Given the description of an element on the screen output the (x, y) to click on. 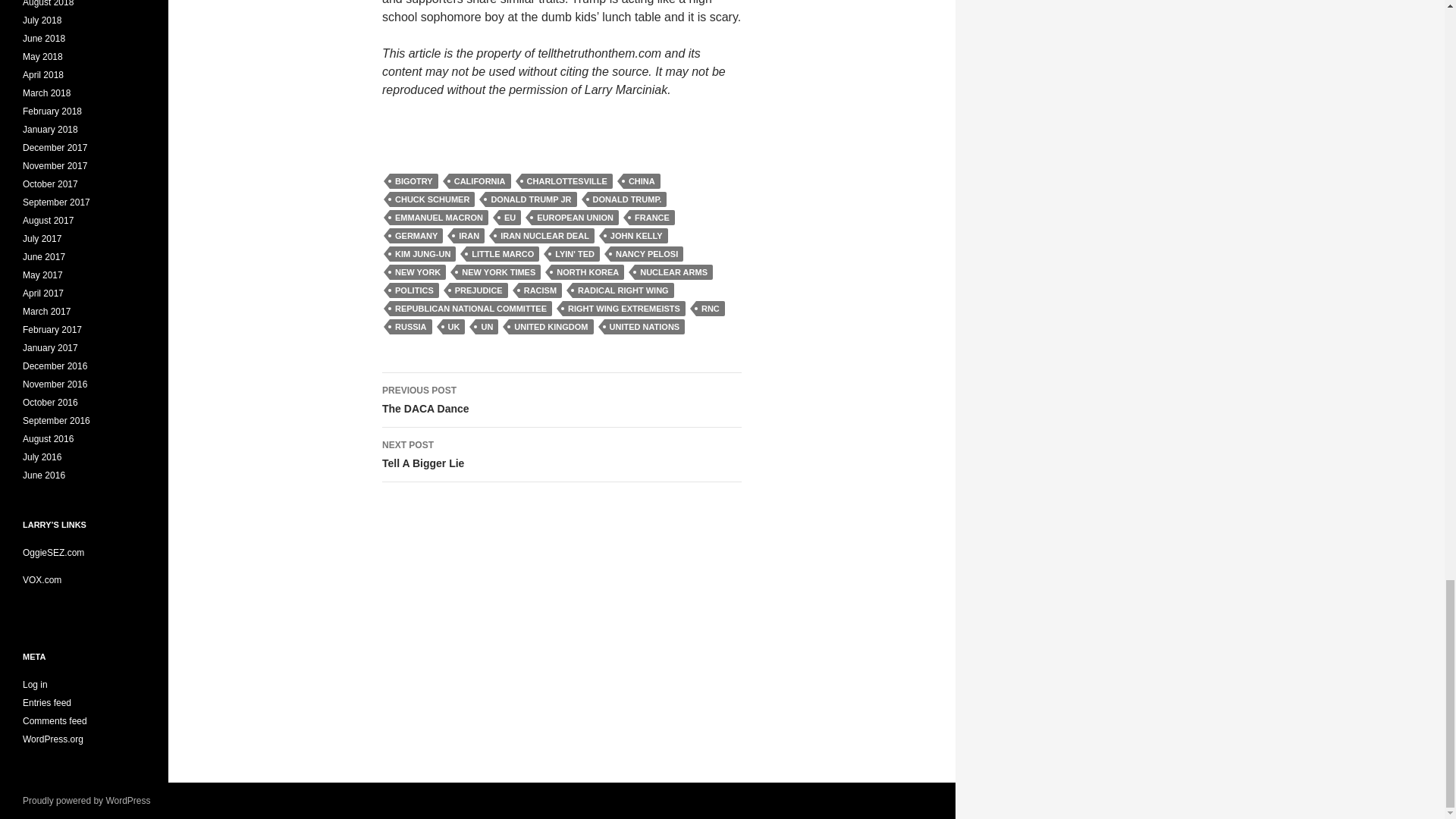
LYIN' TED (574, 253)
NORTH KOREA (587, 272)
EU (510, 217)
GERMANY (416, 235)
EMMANUEL MACRON (438, 217)
FRANCE (651, 217)
LITTLE MARCO (501, 253)
EUROPEAN UNION (574, 217)
JOHN KELLY (636, 235)
KIM JUNG-UN (422, 253)
NANCY PELOSI (646, 253)
NUCLEAR ARMS (673, 272)
CHINA (642, 181)
IRAN (468, 235)
NEW YORK (417, 272)
